Given the description of an element on the screen output the (x, y) to click on. 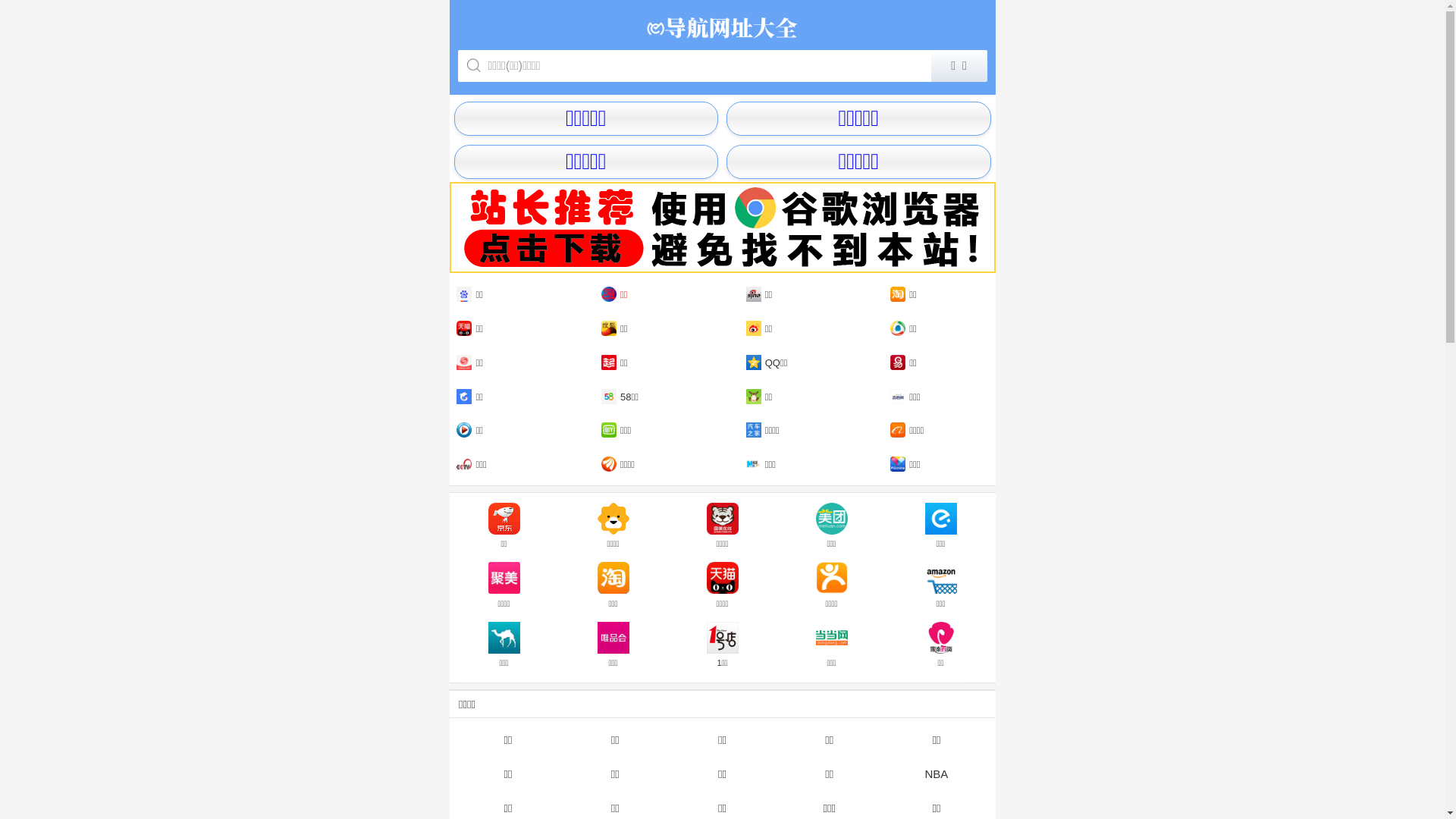
NBA Element type: text (935, 773)
